Given the description of an element on the screen output the (x, y) to click on. 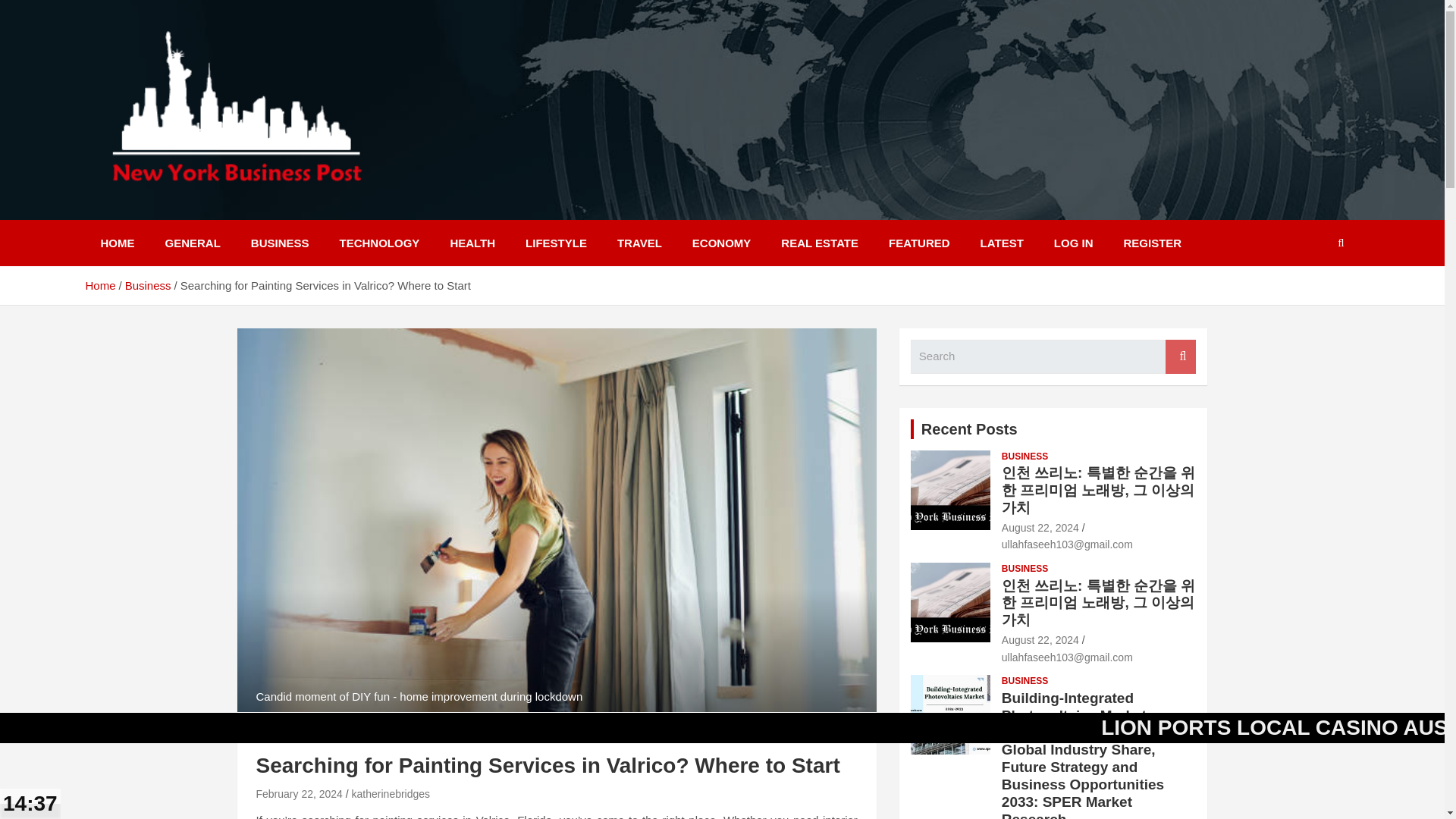
Searching for Painting Services in Valrico? Where to Start (299, 793)
LATEST (1002, 243)
HOME (116, 243)
katherinebridges (391, 793)
HEALTH (472, 243)
BUSINESS (1024, 456)
ECONOMY (722, 243)
Home (99, 285)
FEATURED (919, 243)
TRAVEL (639, 243)
